Given the description of an element on the screen output the (x, y) to click on. 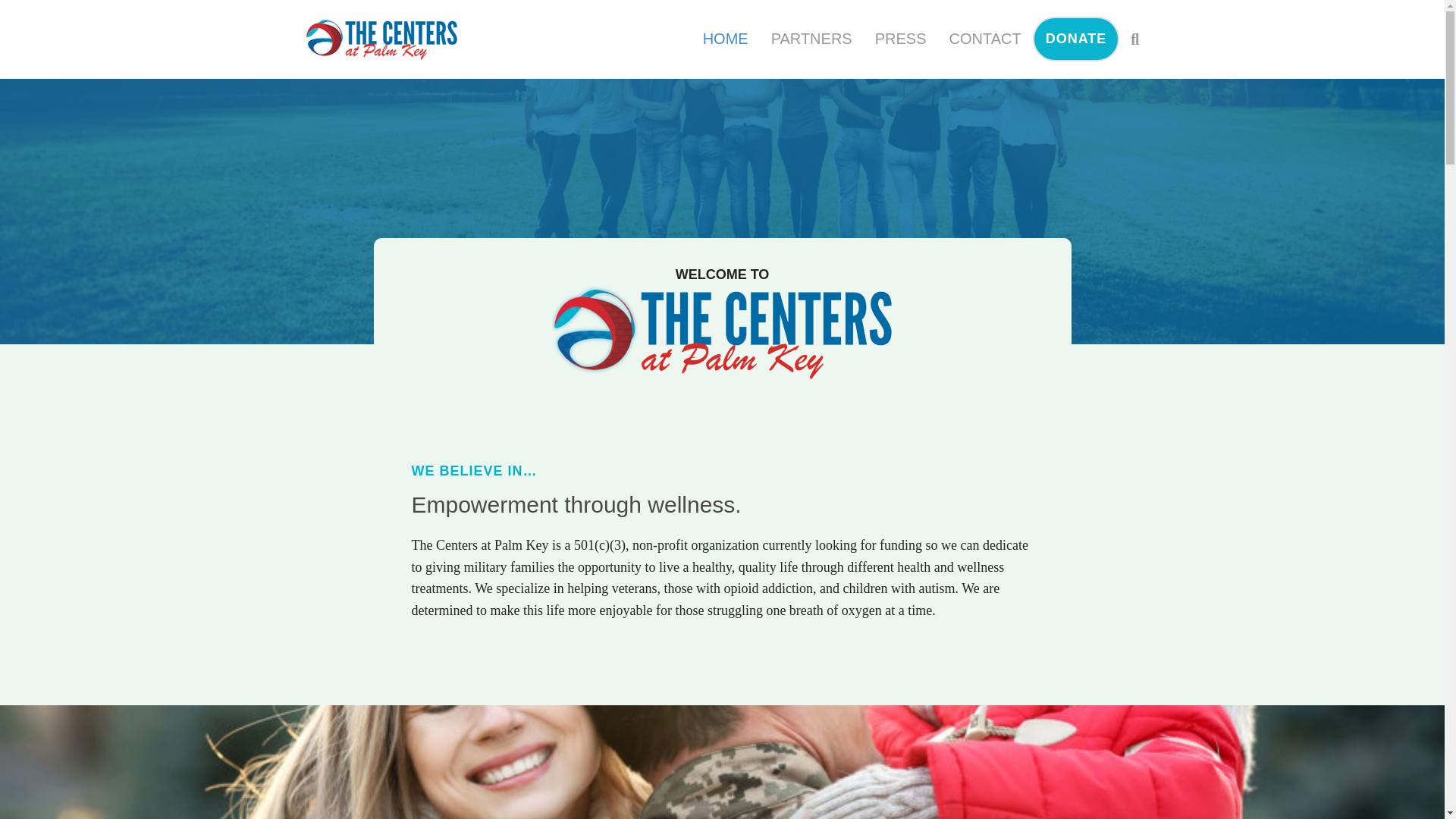
HOME (725, 38)
logo (733, 332)
PRESS (900, 38)
PARTNERS (811, 38)
DONATE (1075, 38)
CONTACT (984, 38)
